Given the description of an element on the screen output the (x, y) to click on. 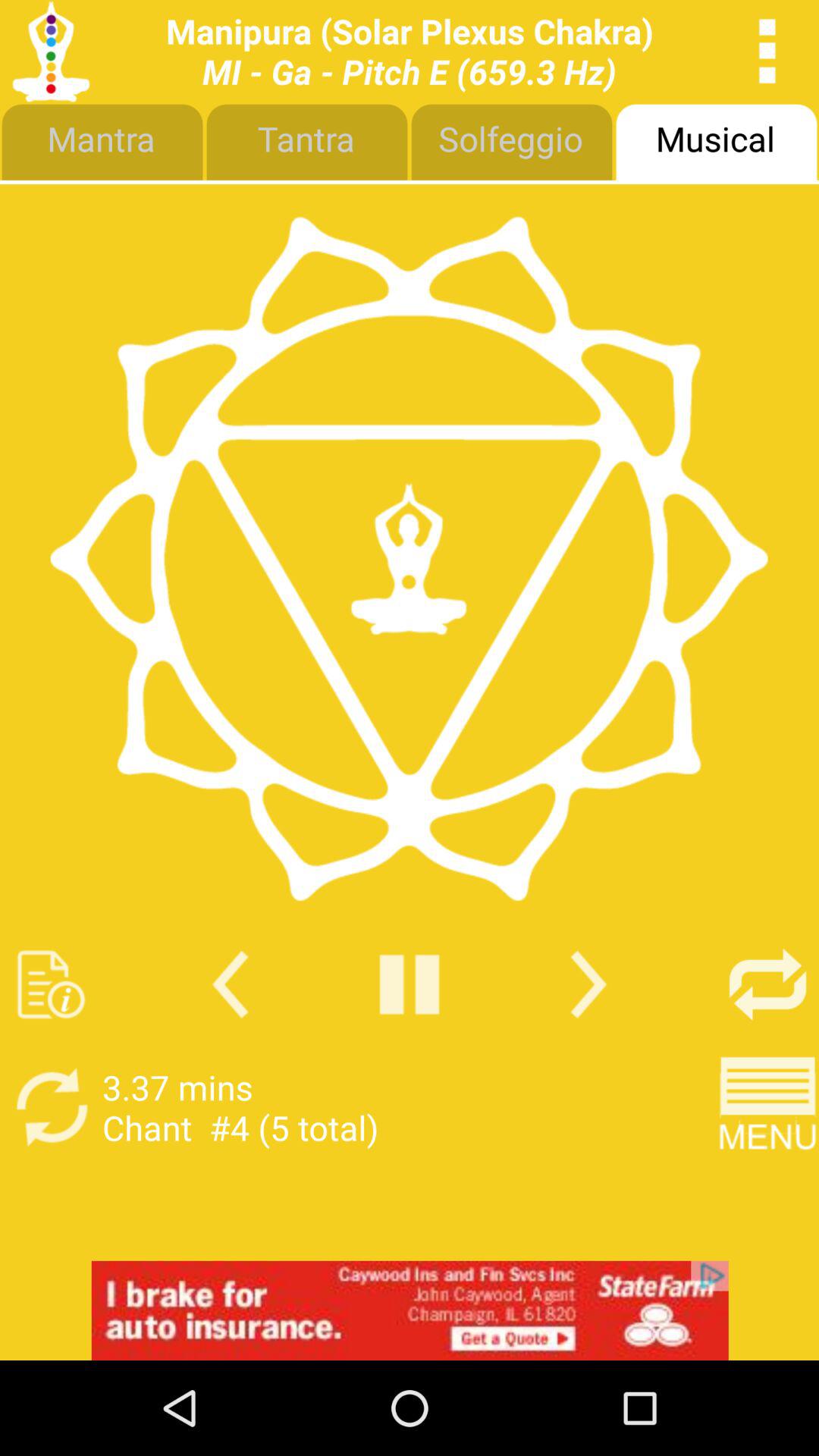
pause song (409, 984)
